Given the description of an element on the screen output the (x, y) to click on. 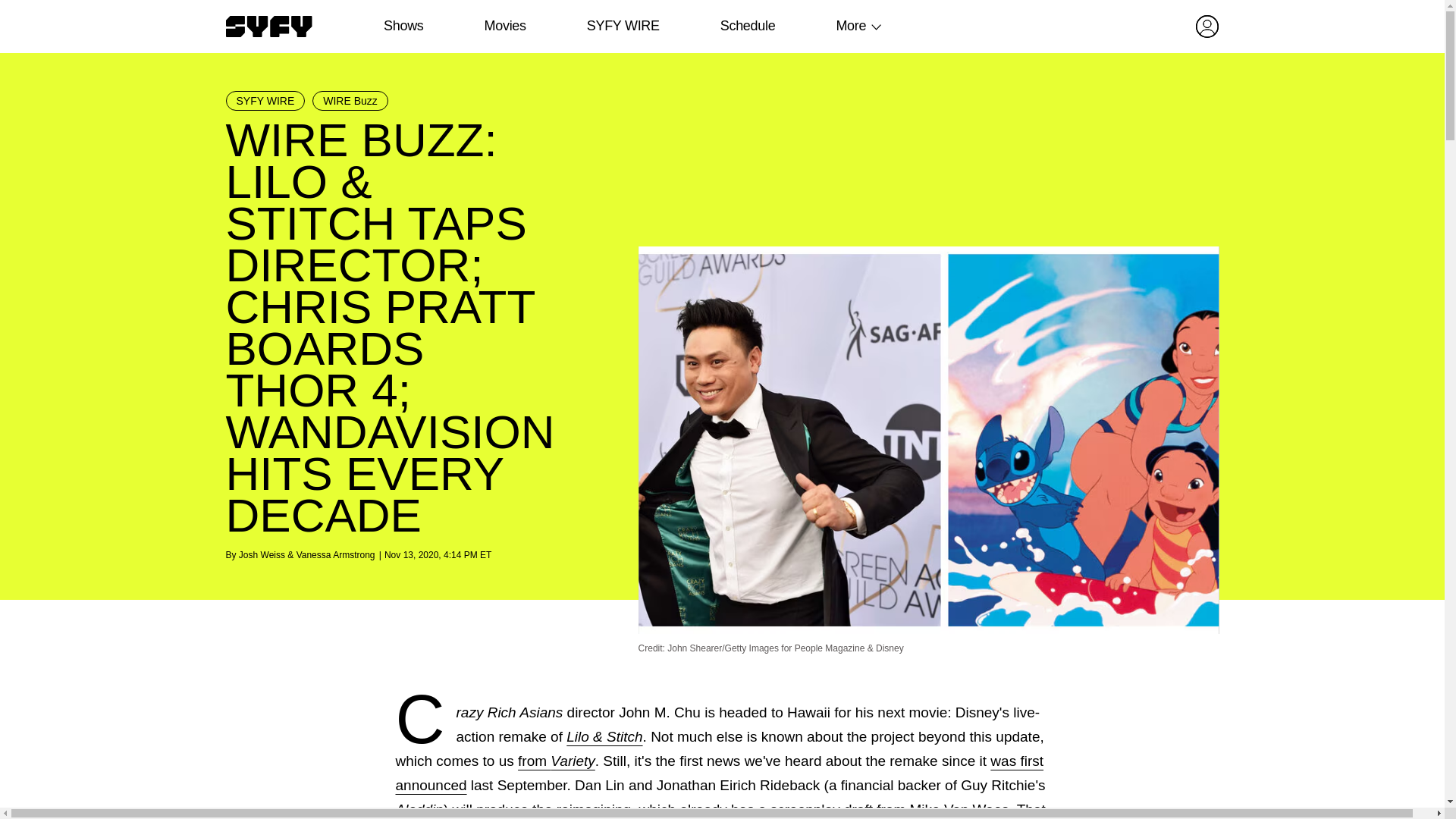
from Variety (556, 760)
was first announced (719, 772)
More (850, 26)
Schedule (746, 26)
Josh Weiss (261, 554)
SYFY WIRE (622, 26)
Movies (504, 26)
Vanessa Armstrong (336, 554)
Shows (403, 26)
WIRE Buzz (350, 100)
SYFY WIRE (265, 100)
